Given the description of an element on the screen output the (x, y) to click on. 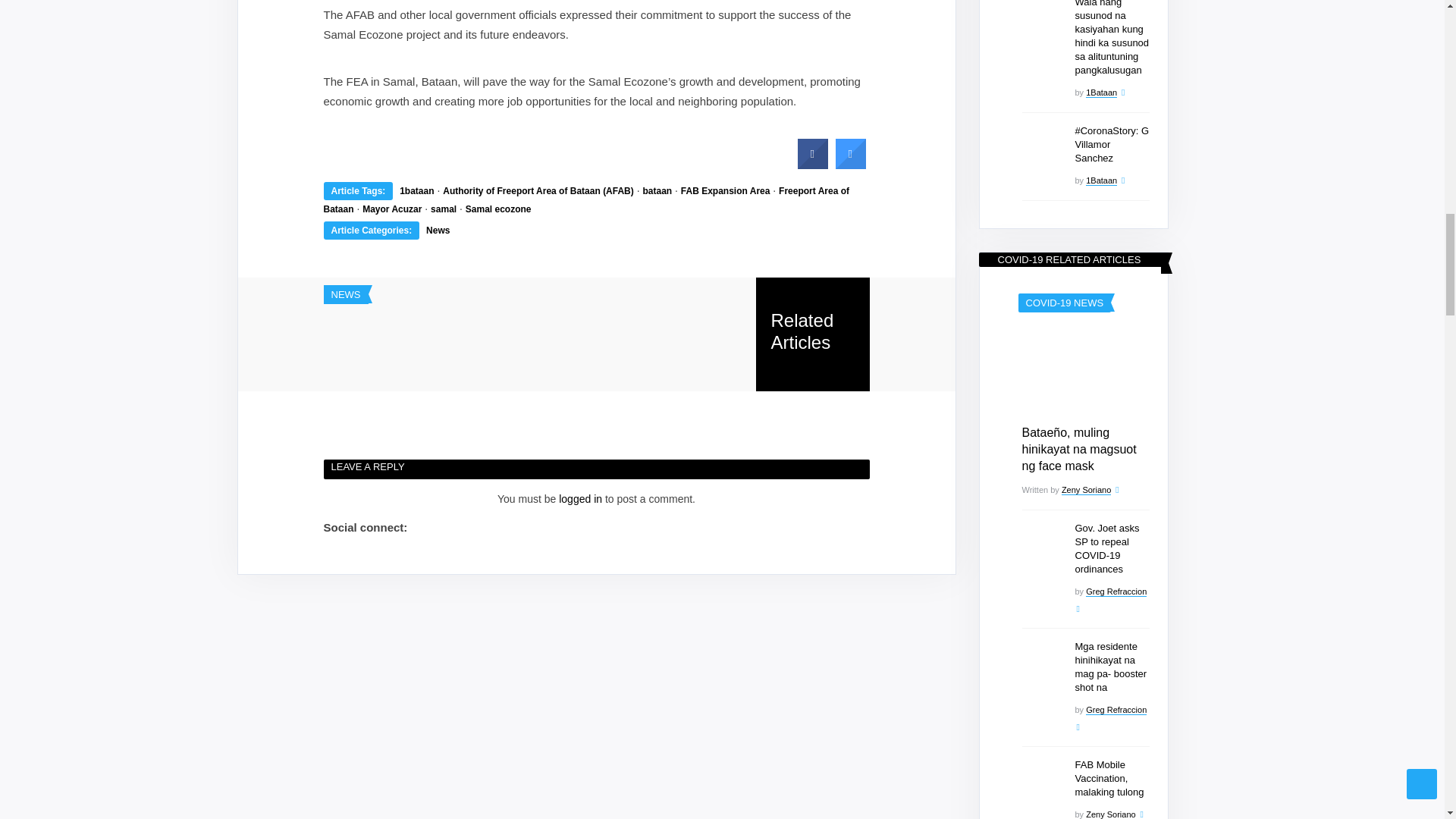
View all posts in News (344, 294)
Share on Facebook (812, 164)
Share on Twitter (850, 164)
